Given the description of an element on the screen output the (x, y) to click on. 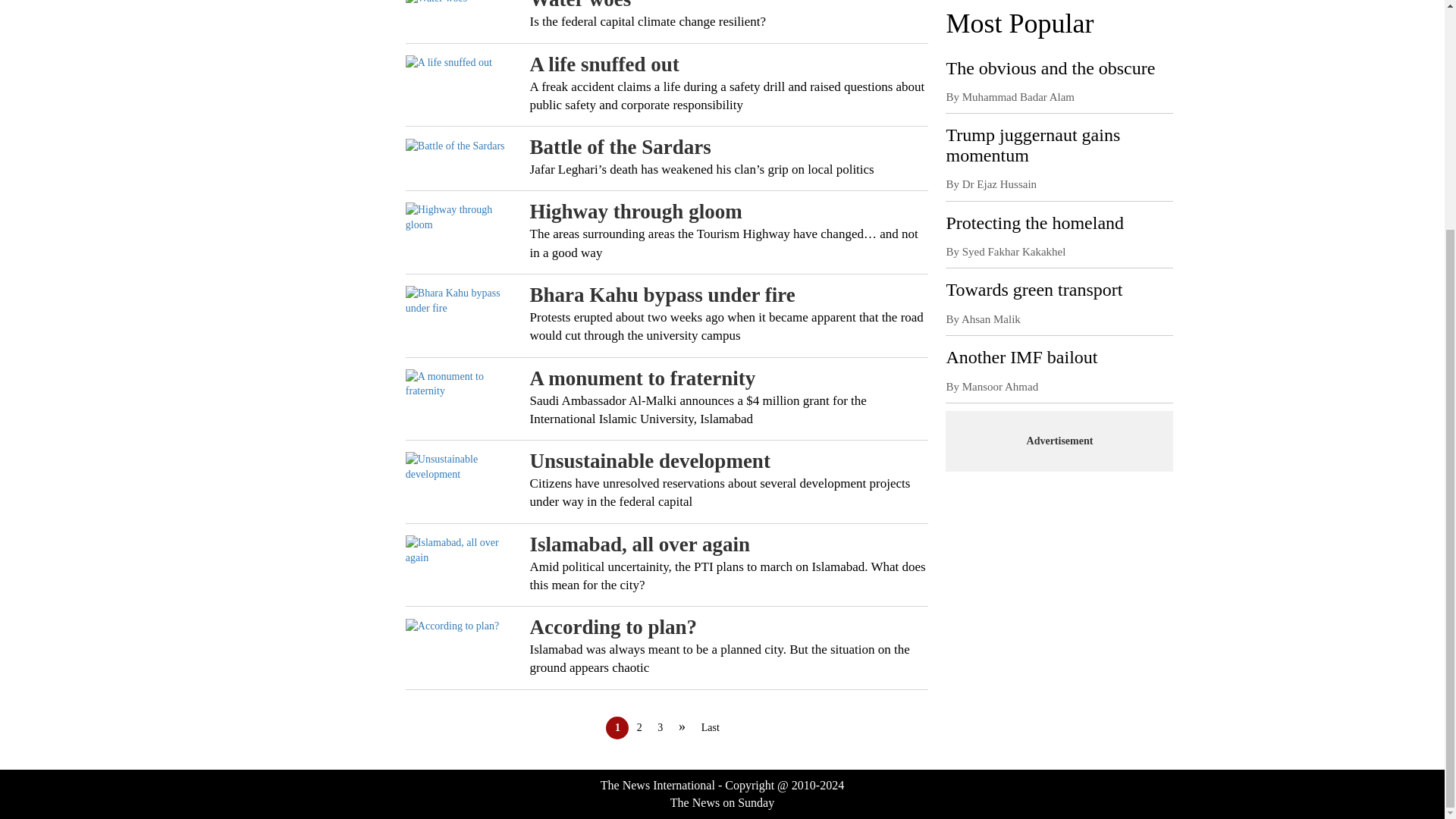
2 (639, 727)
3 (660, 727)
